Given the description of an element on the screen output the (x, y) to click on. 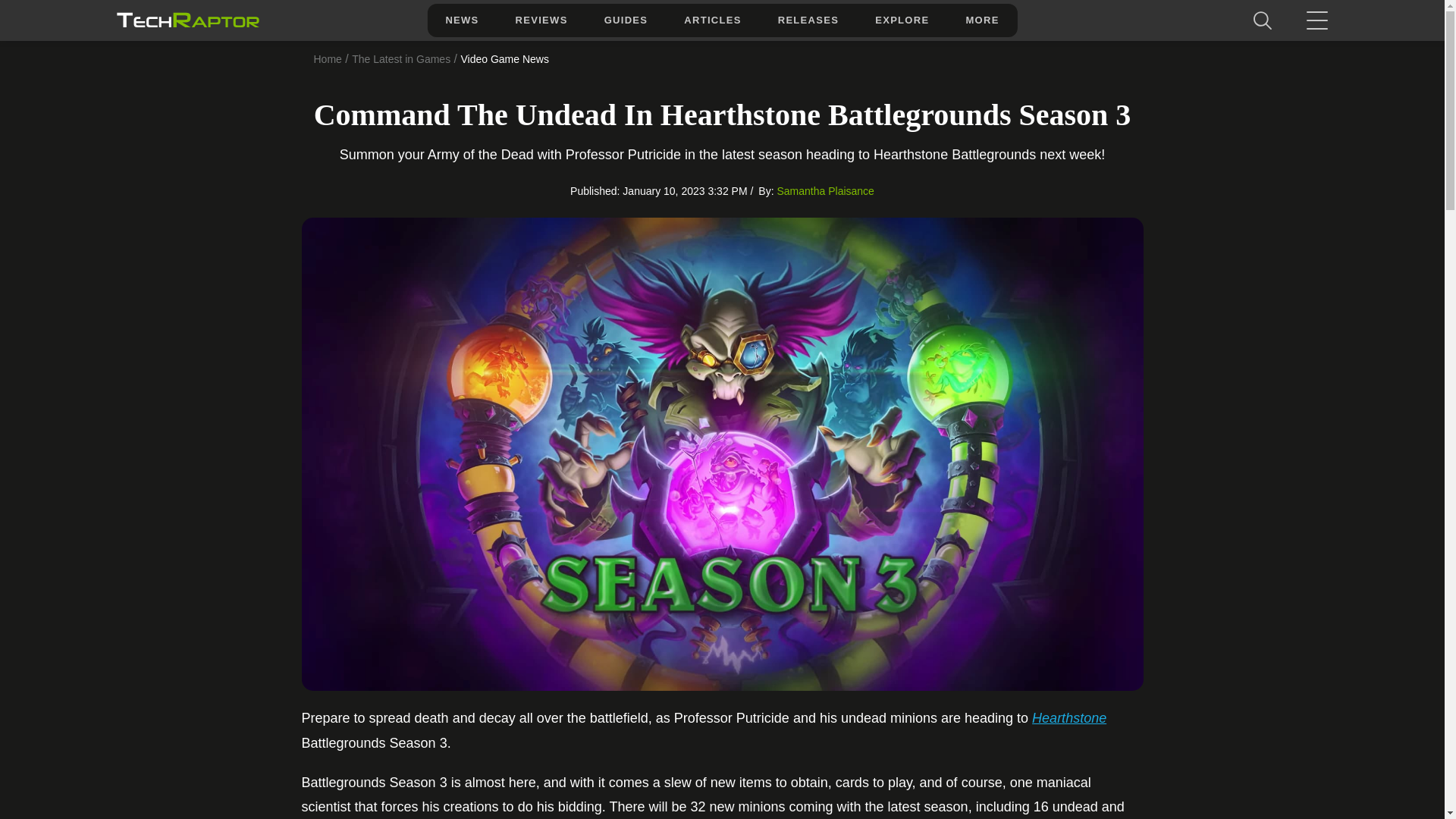
NEWS (461, 20)
GUIDES (626, 20)
ARTICLES (711, 20)
REVIEWS (541, 20)
RELEASES (807, 20)
TechRaptor Home (187, 20)
